Given the description of an element on the screen output the (x, y) to click on. 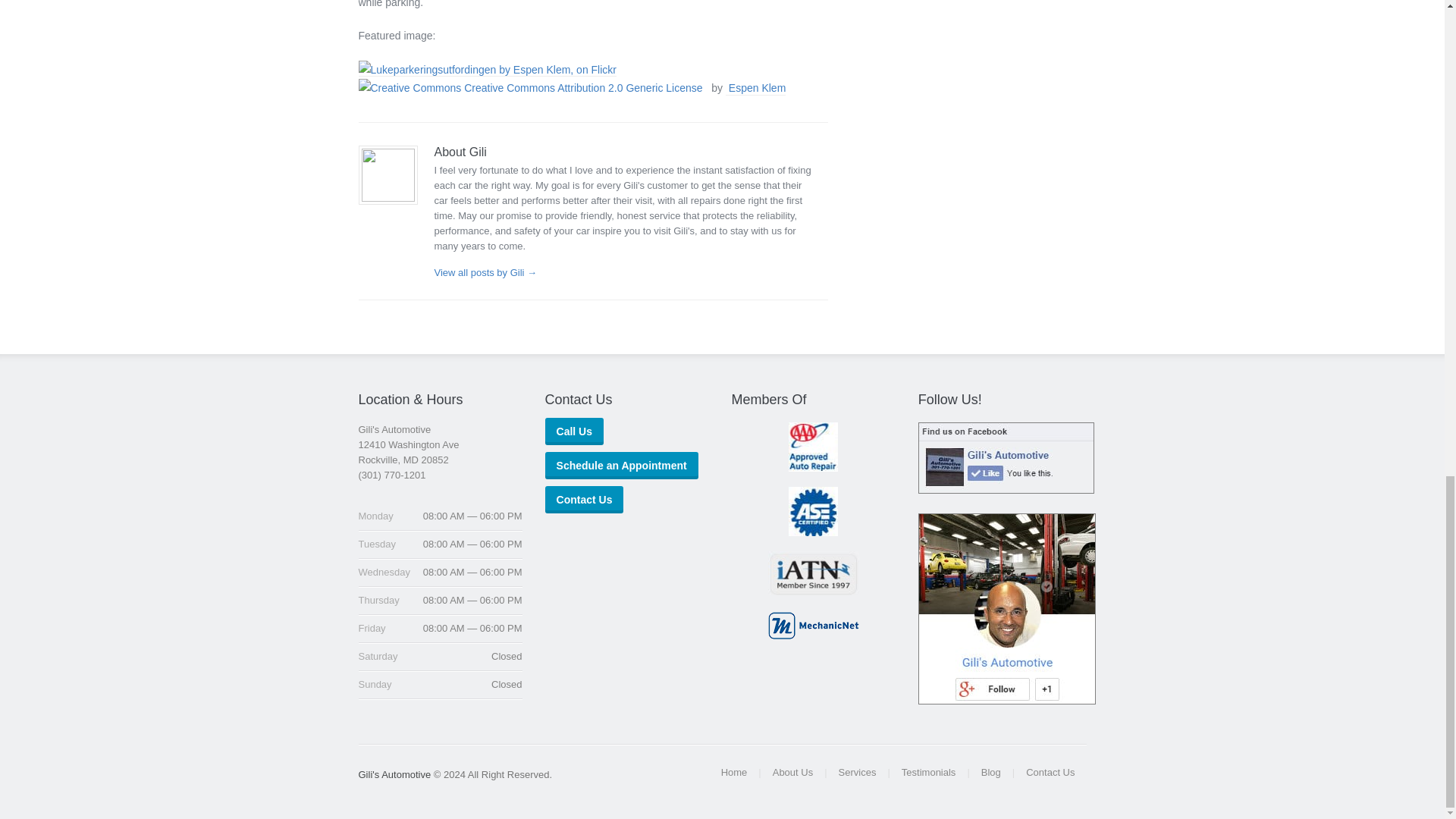
Gili's (394, 775)
About Us (792, 772)
Espen Klem (757, 88)
Contact Us (584, 499)
Lukeparkeringsutfordingen by Espen Klem, on Flickr (486, 69)
Gili's Automotive (394, 775)
Call Us (574, 431)
Home (734, 772)
Schedule an Appointment (621, 465)
